Given the description of an element on the screen output the (x, y) to click on. 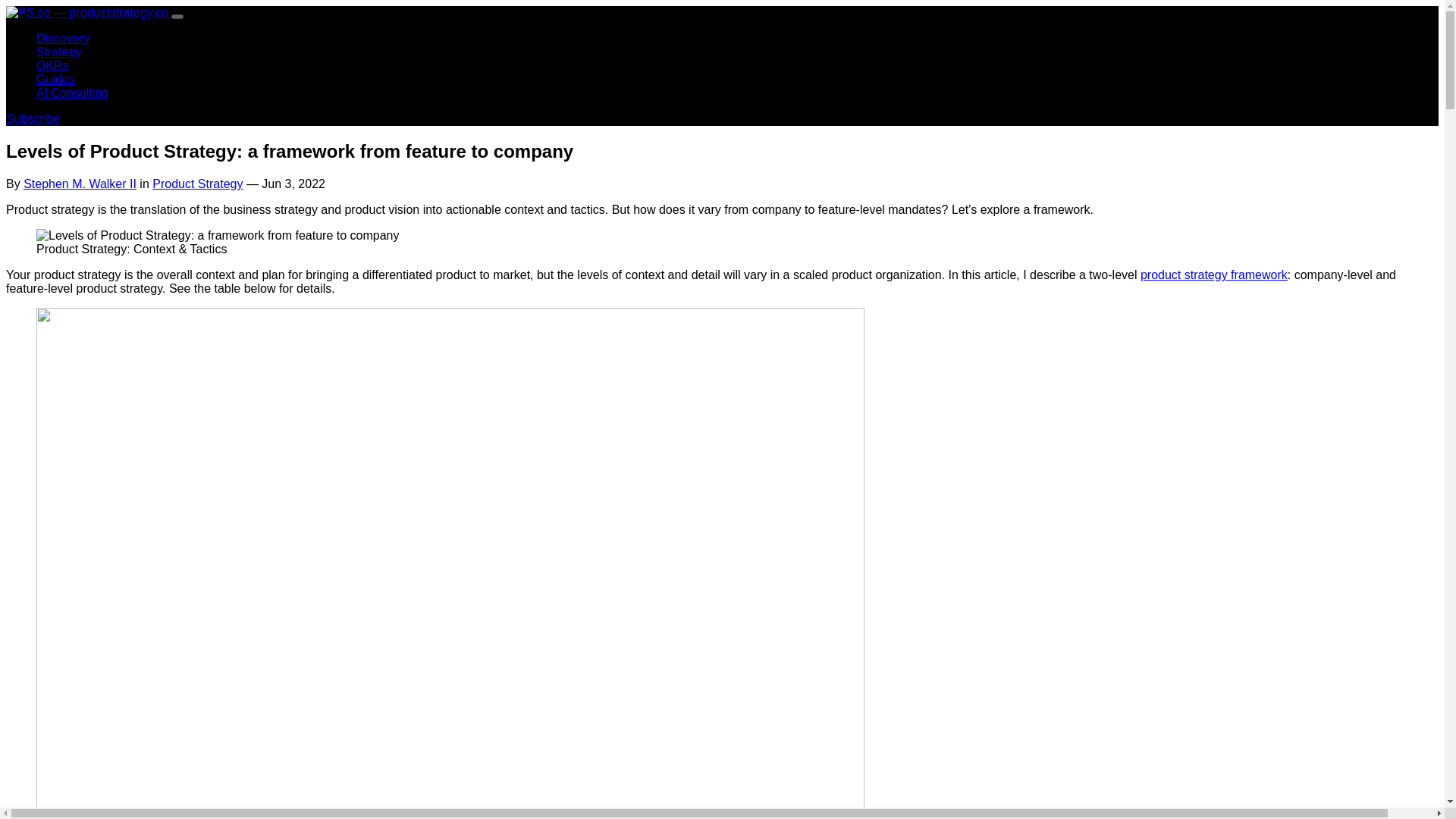
Strategy (58, 51)
OKRs (52, 65)
Stephen M. Walker II (79, 183)
product strategy framework (1213, 274)
Discovery (62, 38)
AI Consulting (71, 92)
Product Strategy (197, 183)
Guides (55, 78)
Subscribe (32, 118)
